Given the description of an element on the screen output the (x, y) to click on. 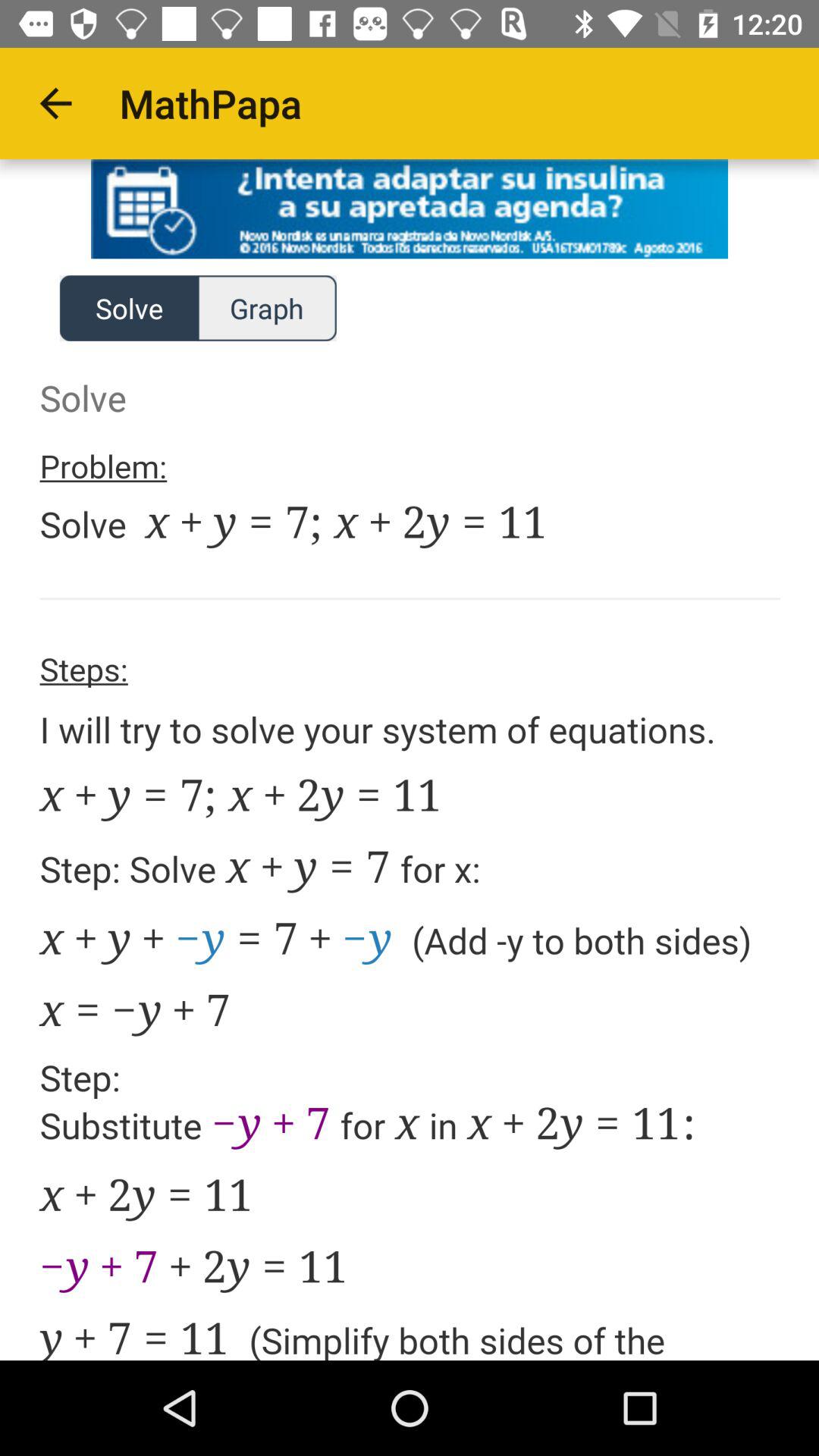
view advertisement (409, 208)
